Given the description of an element on the screen output the (x, y) to click on. 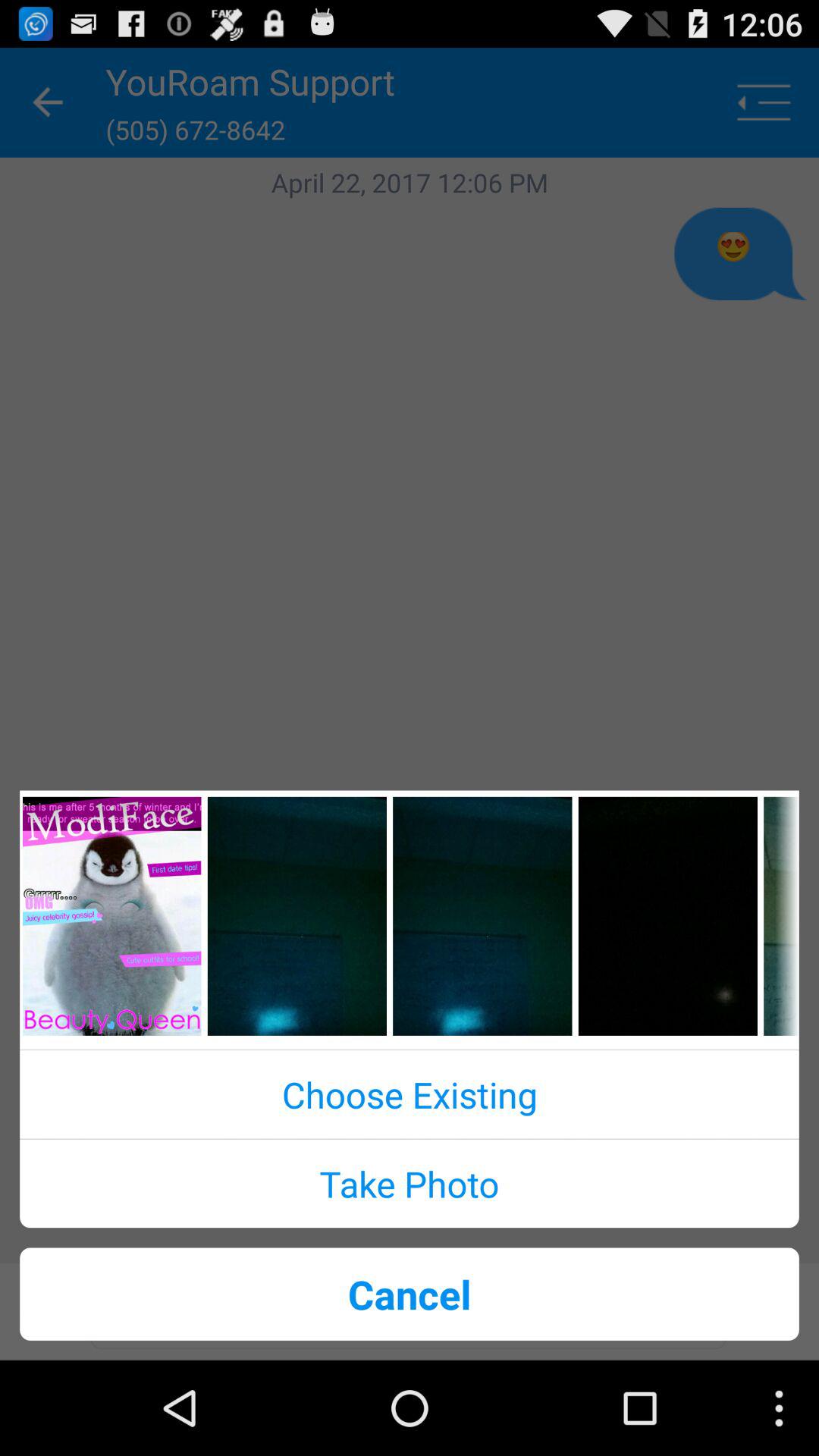
choose second photo (296, 915)
